Given the description of an element on the screen output the (x, y) to click on. 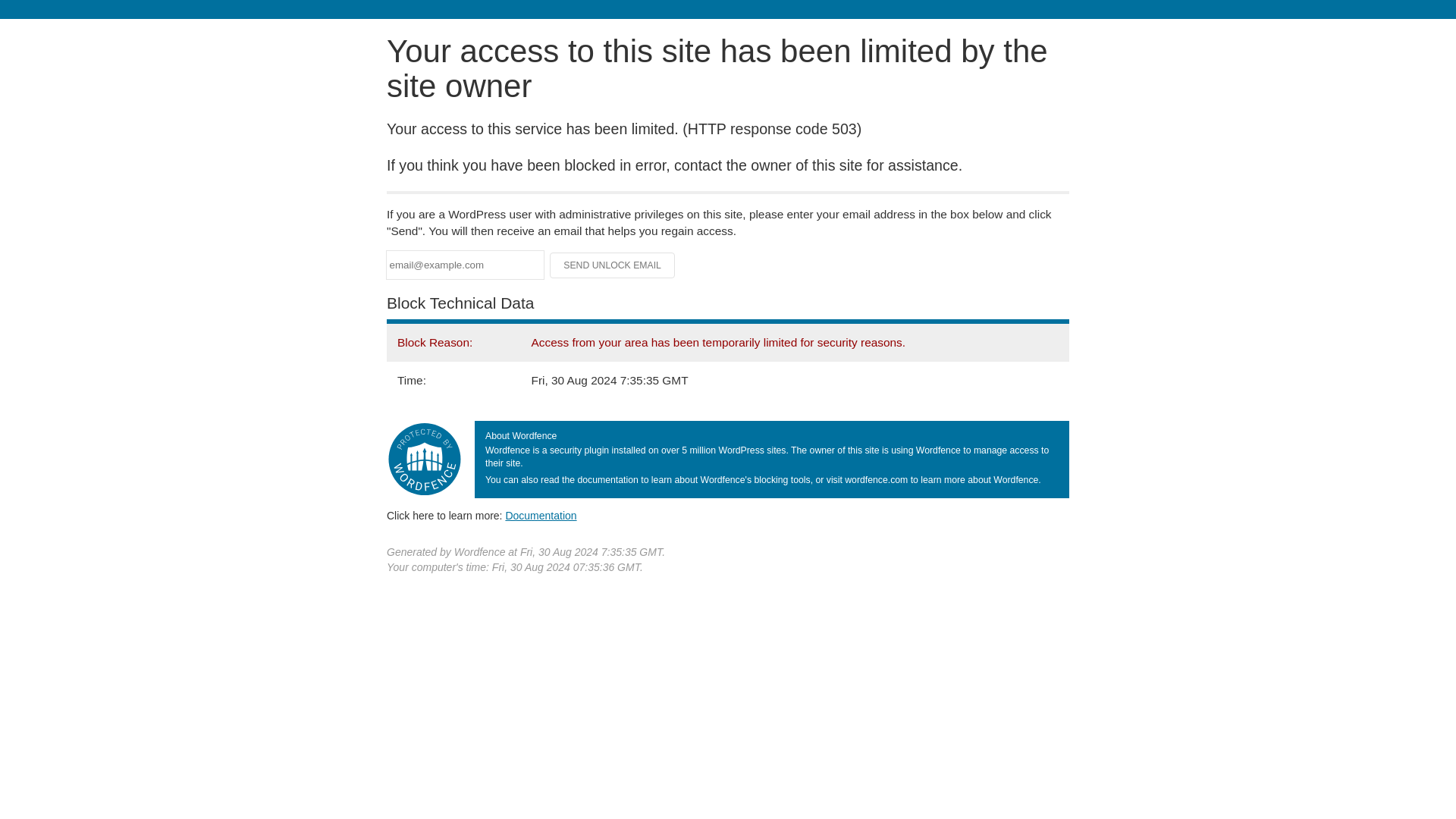
Send Unlock Email (612, 265)
Send Unlock Email (612, 265)
Documentation (540, 515)
